Given the description of an element on the screen output the (x, y) to click on. 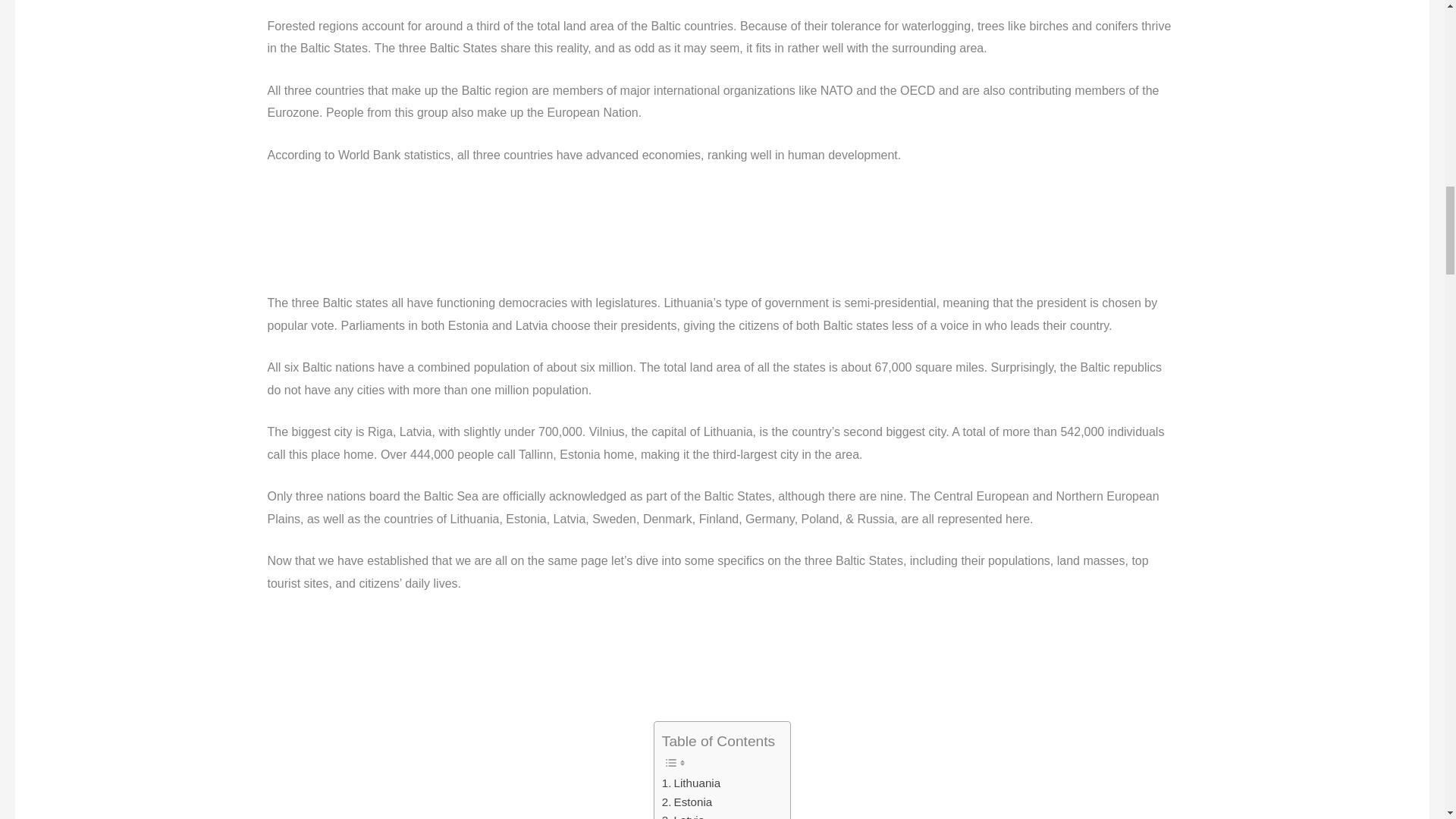
Latvia (683, 815)
Lithuania (691, 782)
Estonia (686, 802)
